Given the description of an element on the screen output the (x, y) to click on. 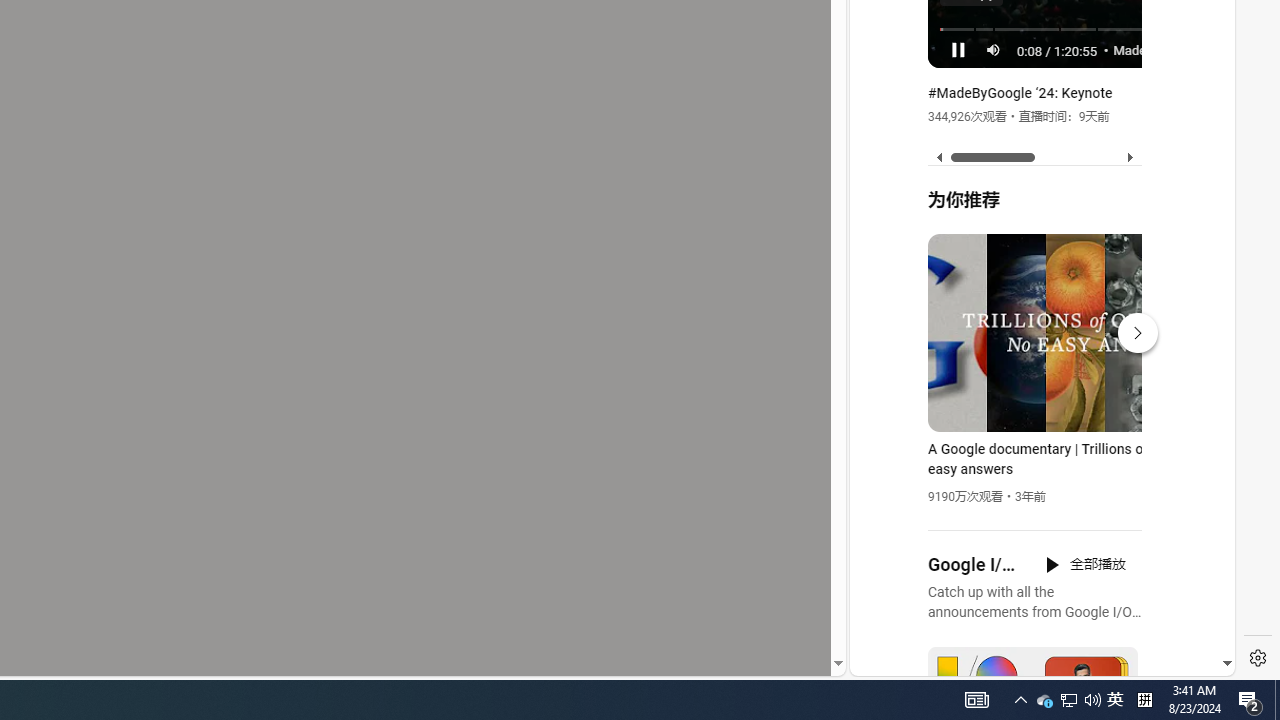
US[ju] (917, 660)
you (1034, 609)
